Given the description of an element on the screen output the (x, y) to click on. 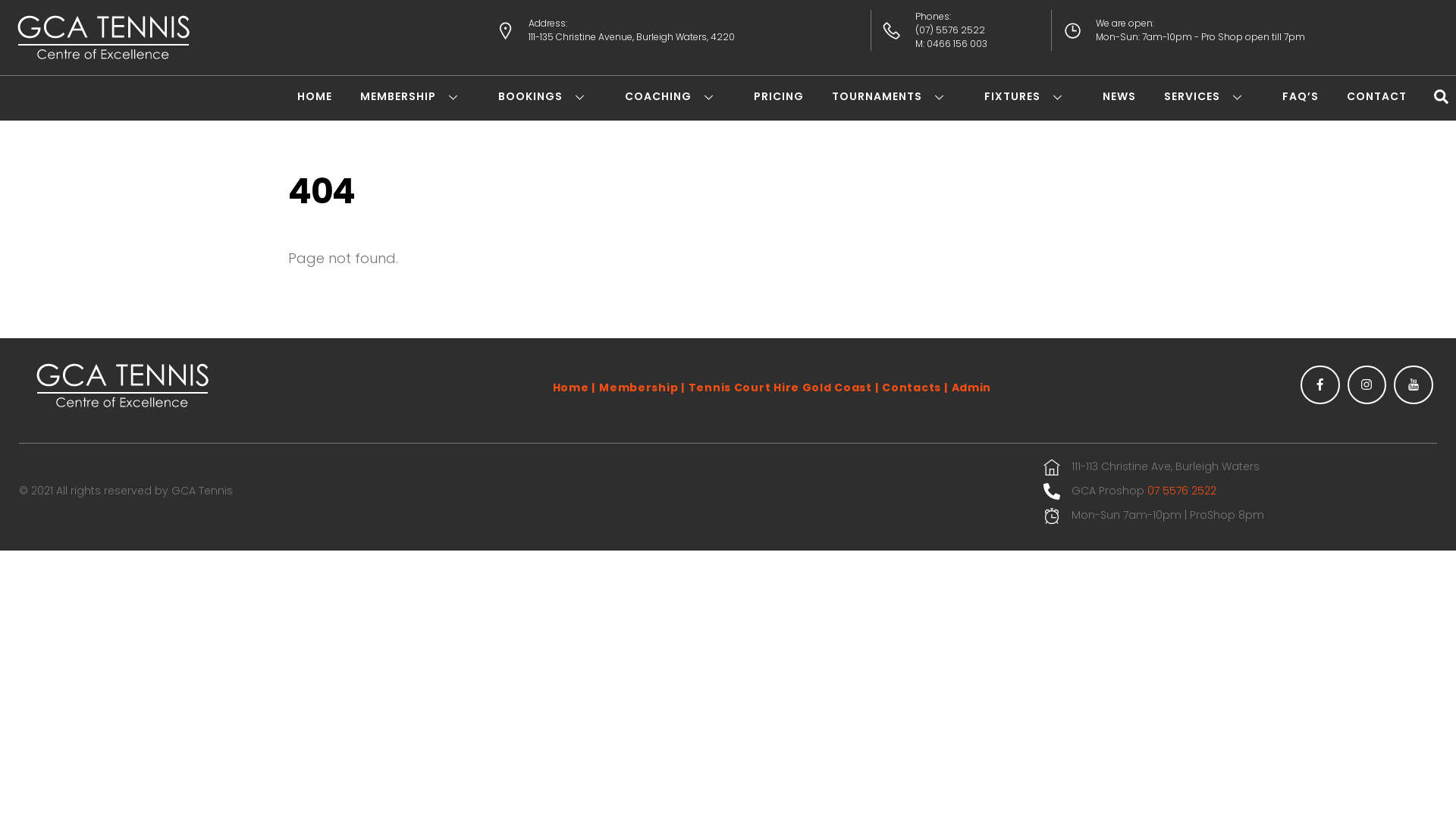
TOURNAMENTS Element type: text (893, 96)
FIXTURES Element type: text (1029, 96)
Membership | Element type: text (641, 387)
HOME Element type: text (314, 96)
gca-tennis-logo-transparent-269 Element type: hover (120, 386)
07 5576 2522 Element type: text (1181, 491)
gca-tennis-logo-transparent-269 Element type: hover (101, 38)
NEWS Element type: text (1118, 96)
CONTACT Element type: text (1376, 96)
PRICING Element type: text (778, 96)
Tennis Court Hire Gold Coast | Element type: text (783, 387)
COACHING Element type: text (674, 96)
SERVICES Element type: text (1209, 96)
Home | Element type: text (573, 387)
Admin Element type: text (971, 387)
Contacts | Element type: text (914, 387)
BOOKINGS Element type: text (547, 96)
MEMBERSHIP Element type: text (415, 96)
